Given the description of an element on the screen output the (x, y) to click on. 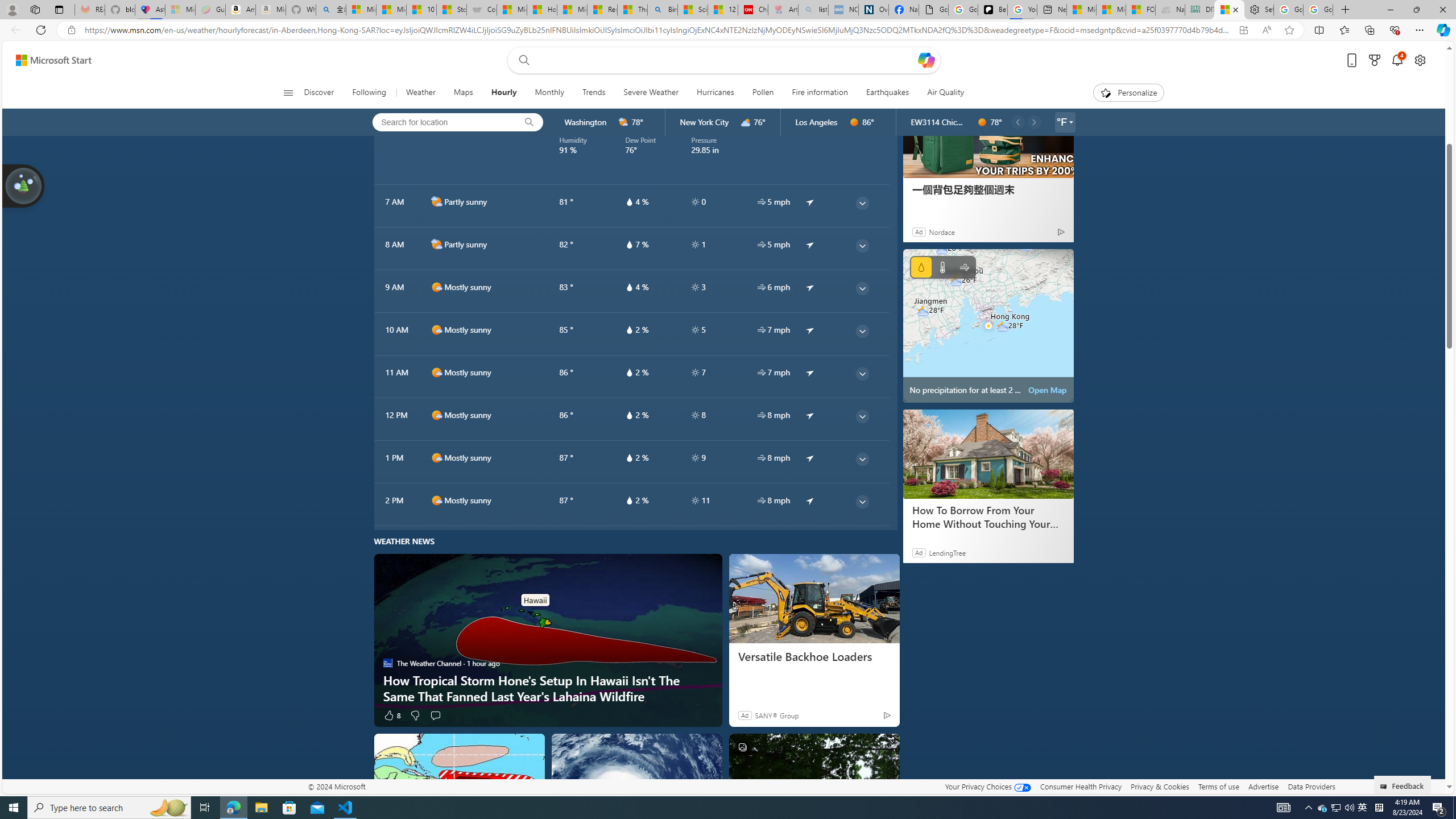
Monthly (549, 92)
Earthquakes (887, 92)
Hourly (503, 92)
Join us in planting real trees to help our planet! (23, 185)
Trends (593, 92)
d0000 (981, 121)
Start the conversation (435, 715)
Hourly (503, 92)
locationBar/search (529, 121)
